Given the description of an element on the screen output the (x, y) to click on. 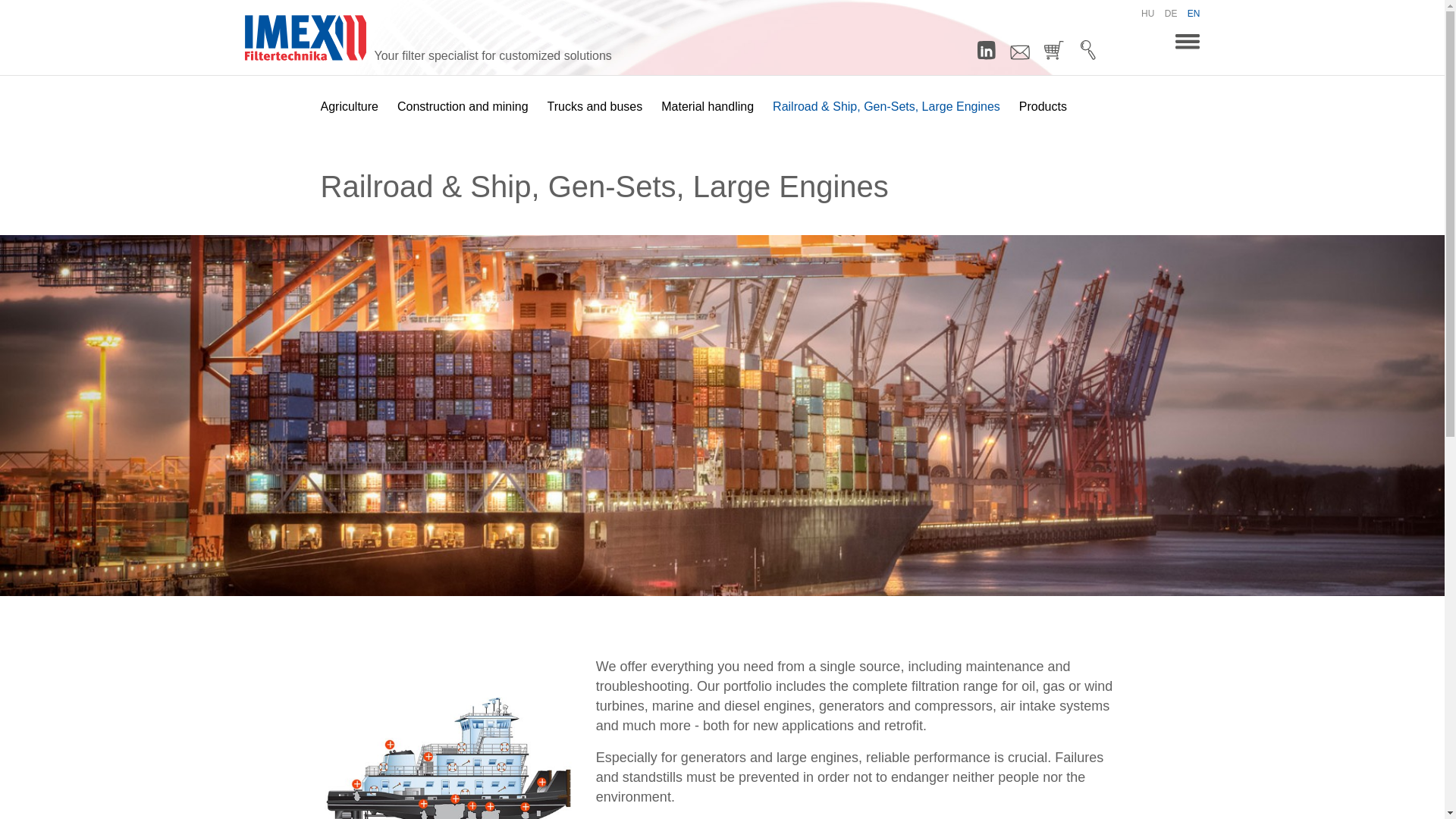
Search (1088, 47)
Construction and mining (462, 106)
Trucks and buses (595, 106)
HU (1147, 13)
DE (1170, 13)
Webshop (1053, 47)
Products (1043, 106)
Agriculture (348, 106)
LinkedIn (985, 47)
Material handling (707, 106)
